Given the description of an element on the screen output the (x, y) to click on. 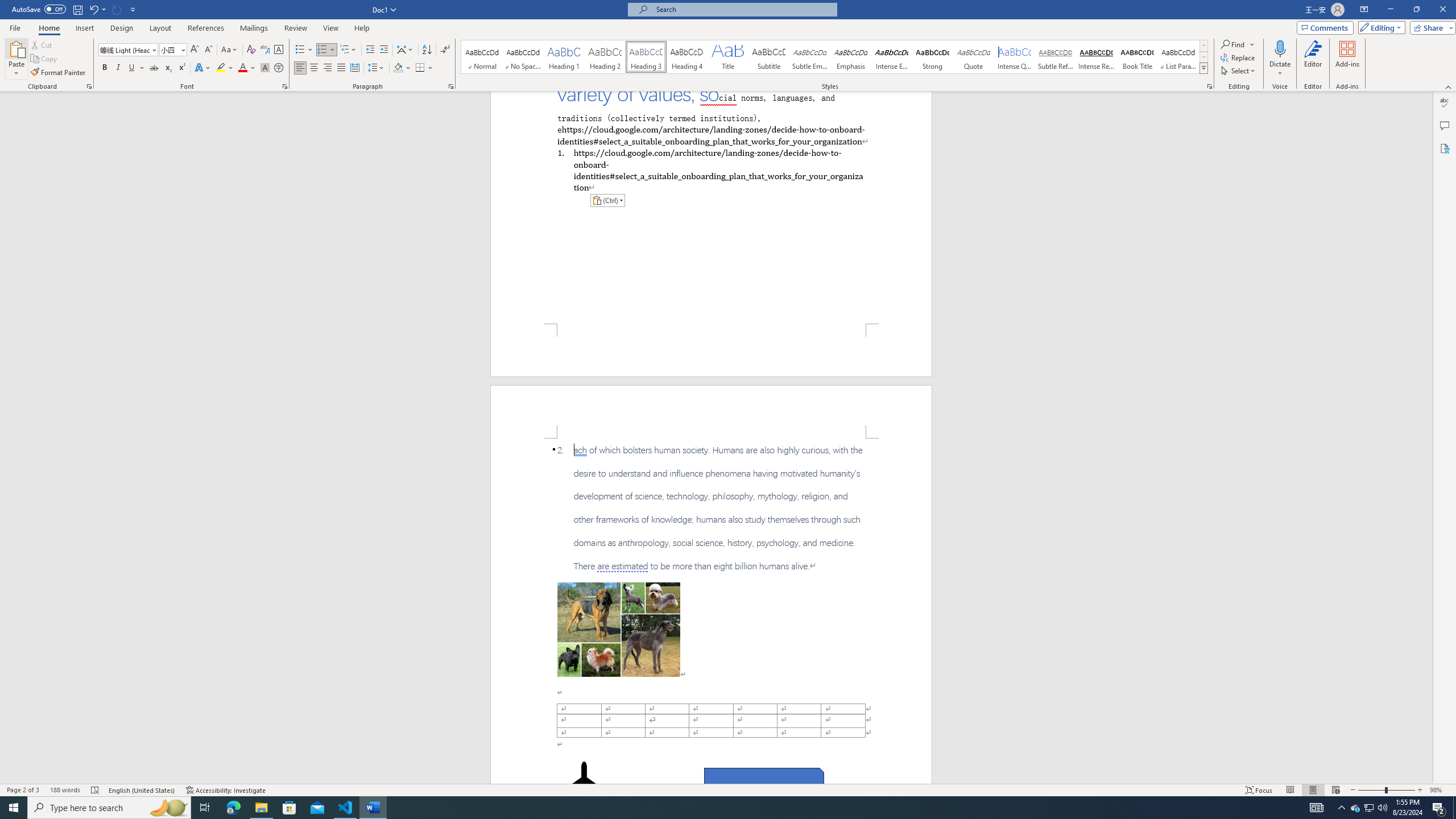
Phonetic Guide... (264, 49)
Styles (1203, 67)
Shrink Font (208, 49)
Show/Hide Editing Marks (444, 49)
Copy (45, 58)
Header -Section 1- (710, 411)
Font... (285, 85)
Class: NetUIScrollBar (1427, 437)
Subtle Reference (1055, 56)
Styles... (1209, 85)
